Given the description of an element on the screen output the (x, y) to click on. 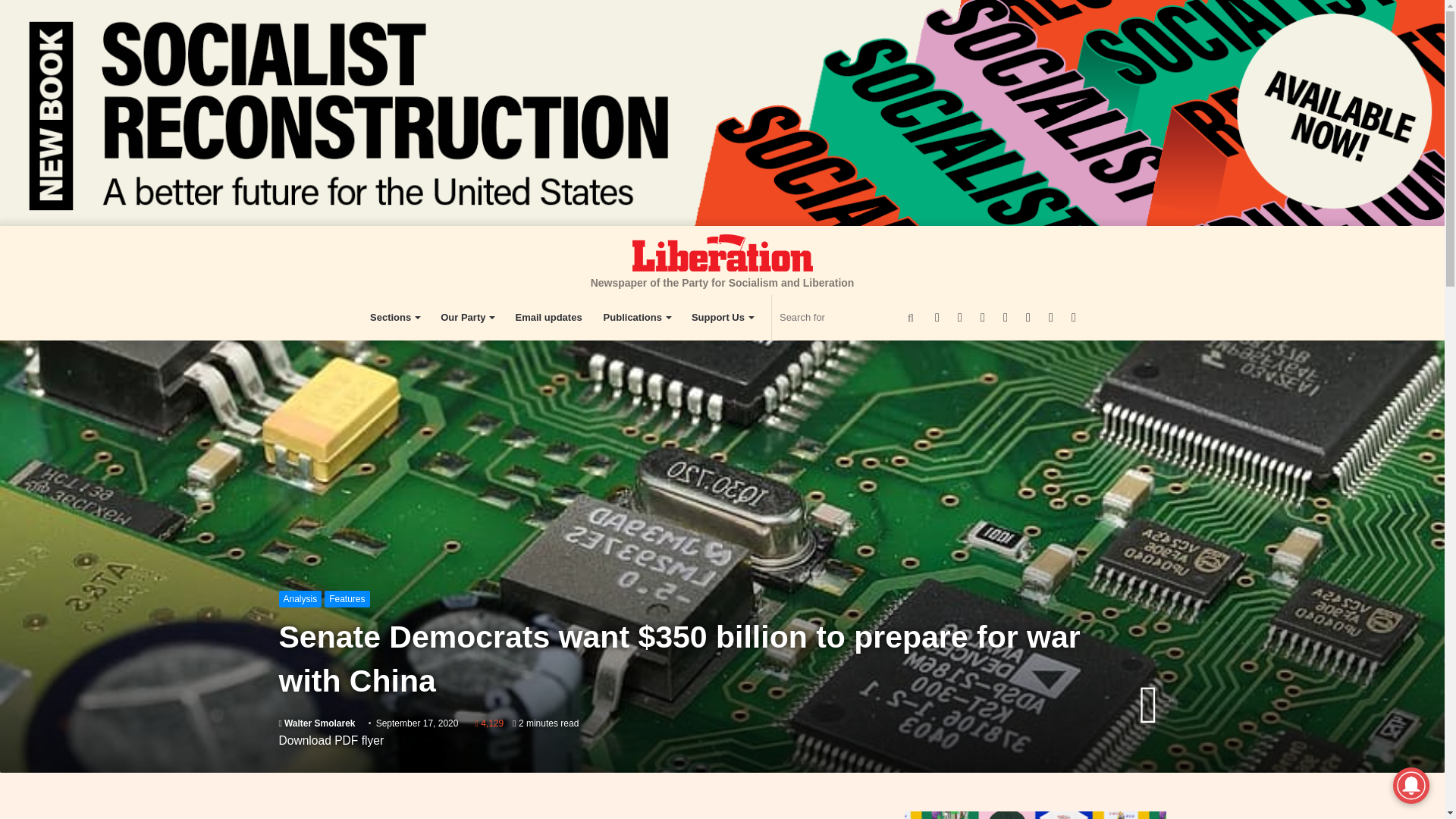
Sections (394, 317)
Download PDF flyer (331, 739)
Email updates (547, 317)
Publications (636, 317)
Support Us (721, 317)
Walter Smolarek (317, 723)
Liberation News (721, 252)
Analysis (300, 598)
Search for (848, 317)
Features (346, 598)
